Given the description of an element on the screen output the (x, y) to click on. 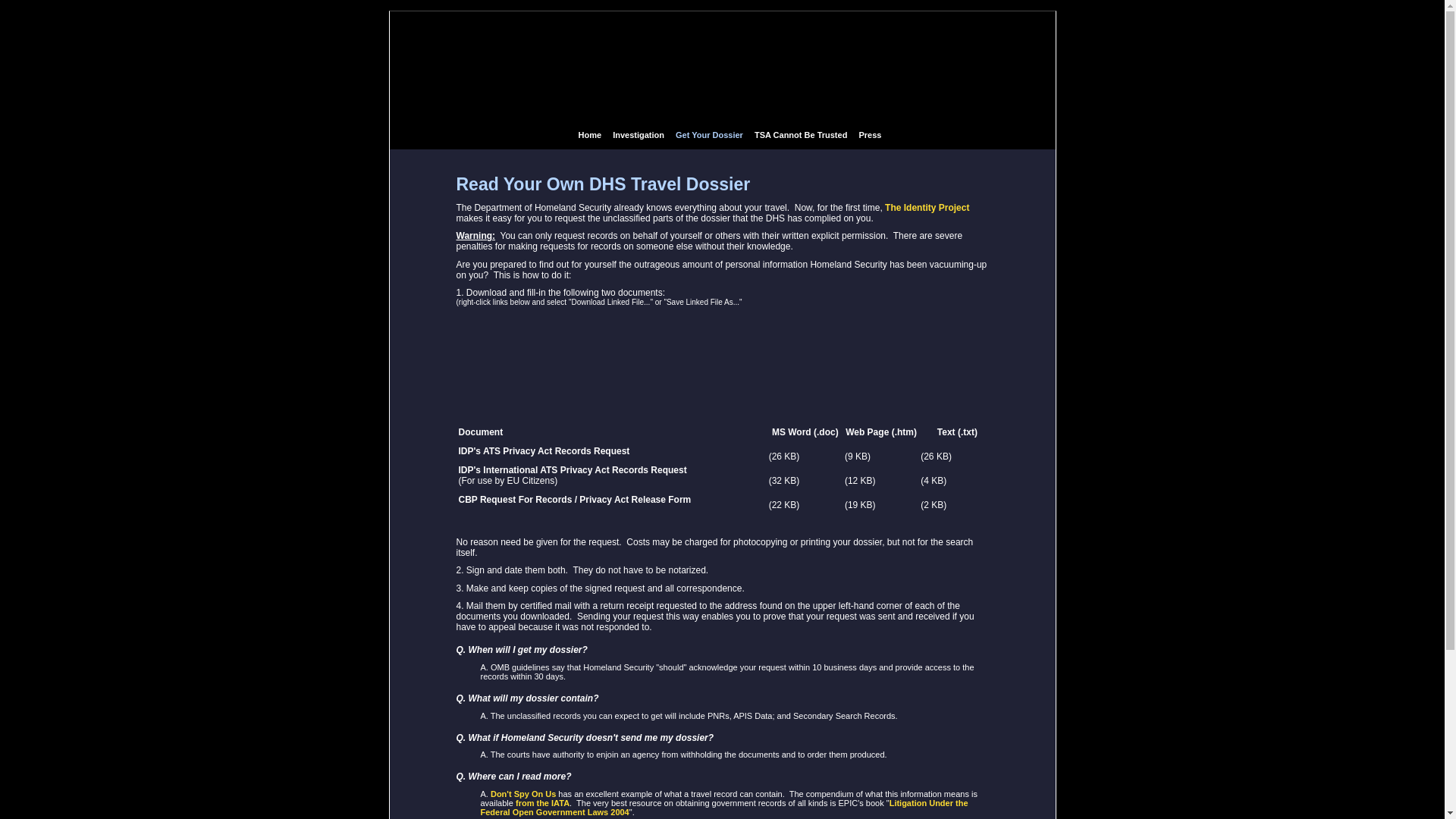
Home (589, 134)
Get Your Dossier (708, 134)
TSA Cannot Be Trusted (800, 134)
Don't Spy On Us (523, 793)
Investigation (637, 134)
from the IATA (542, 802)
Press (869, 134)
The Identity Project (927, 207)
Litigation Under the Federal Open Government Laws 2004 (724, 807)
